Given the description of an element on the screen output the (x, y) to click on. 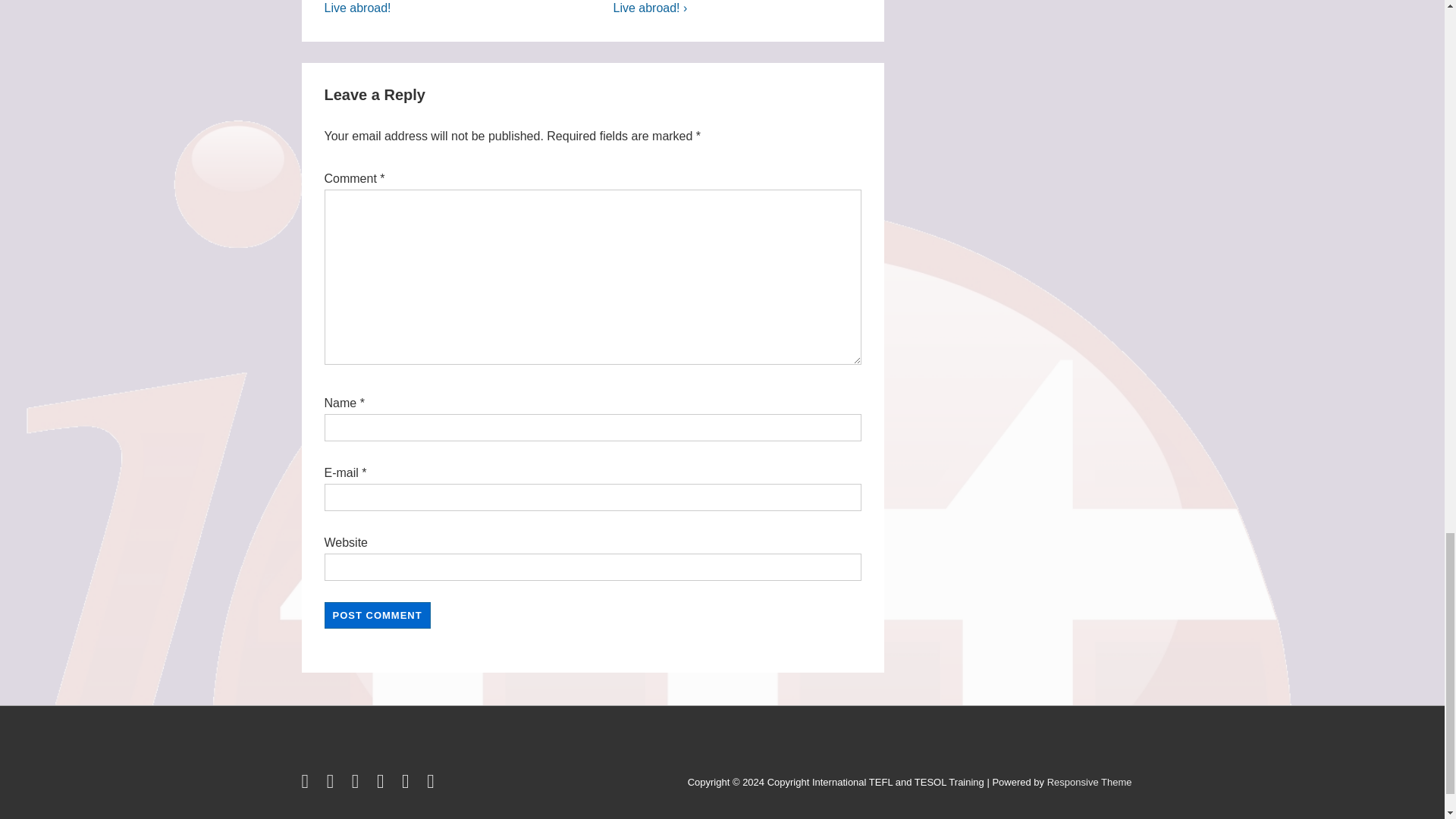
youtube (383, 784)
Post Comment (377, 614)
linkedin (358, 784)
vimeo (432, 784)
twitter (308, 784)
Post Comment (377, 614)
pinterest (407, 784)
Responsive Theme (1089, 781)
facebook (333, 784)
